Given the description of an element on the screen output the (x, y) to click on. 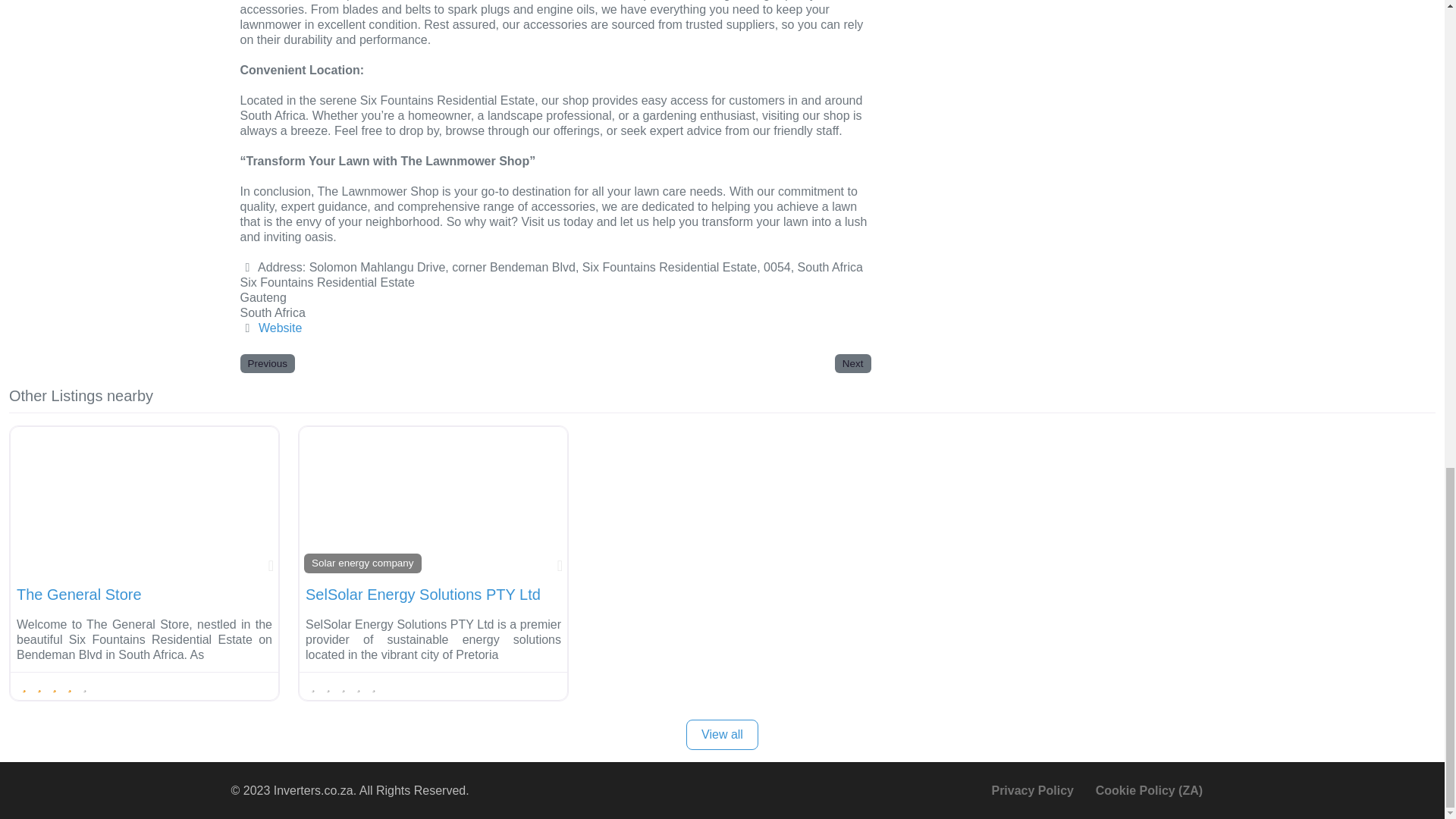
SelSolar Energy Solutions PTY Ltd (422, 594)
Solar energy company (363, 562)
Website (280, 327)
Previous (267, 363)
Next (852, 363)
The General Store (78, 594)
Privacy Policy (1031, 790)
View all (721, 734)
